Given the description of an element on the screen output the (x, y) to click on. 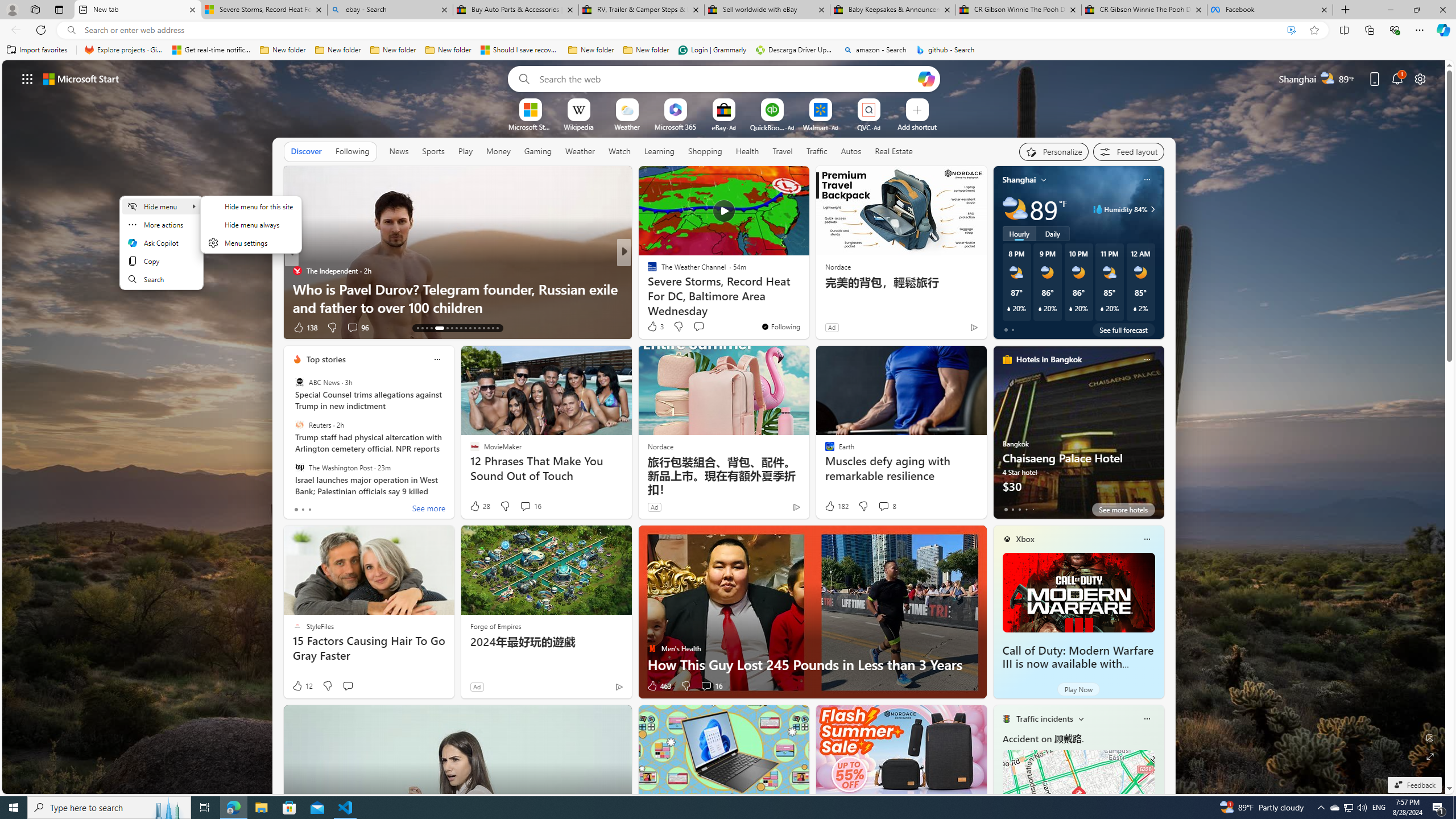
Gaming (537, 151)
Buy Auto Parts & Accessories | eBay (515, 9)
Wikipedia (578, 126)
Health (746, 151)
Hide menu for this site (250, 206)
View comments 1 Comment (703, 327)
Personalize your feed" (1054, 151)
View comments 96 Comment (352, 327)
21 Indicators of Early Emotional Abuse That Are Easy to Miss (807, 298)
